Given the description of an element on the screen output the (x, y) to click on. 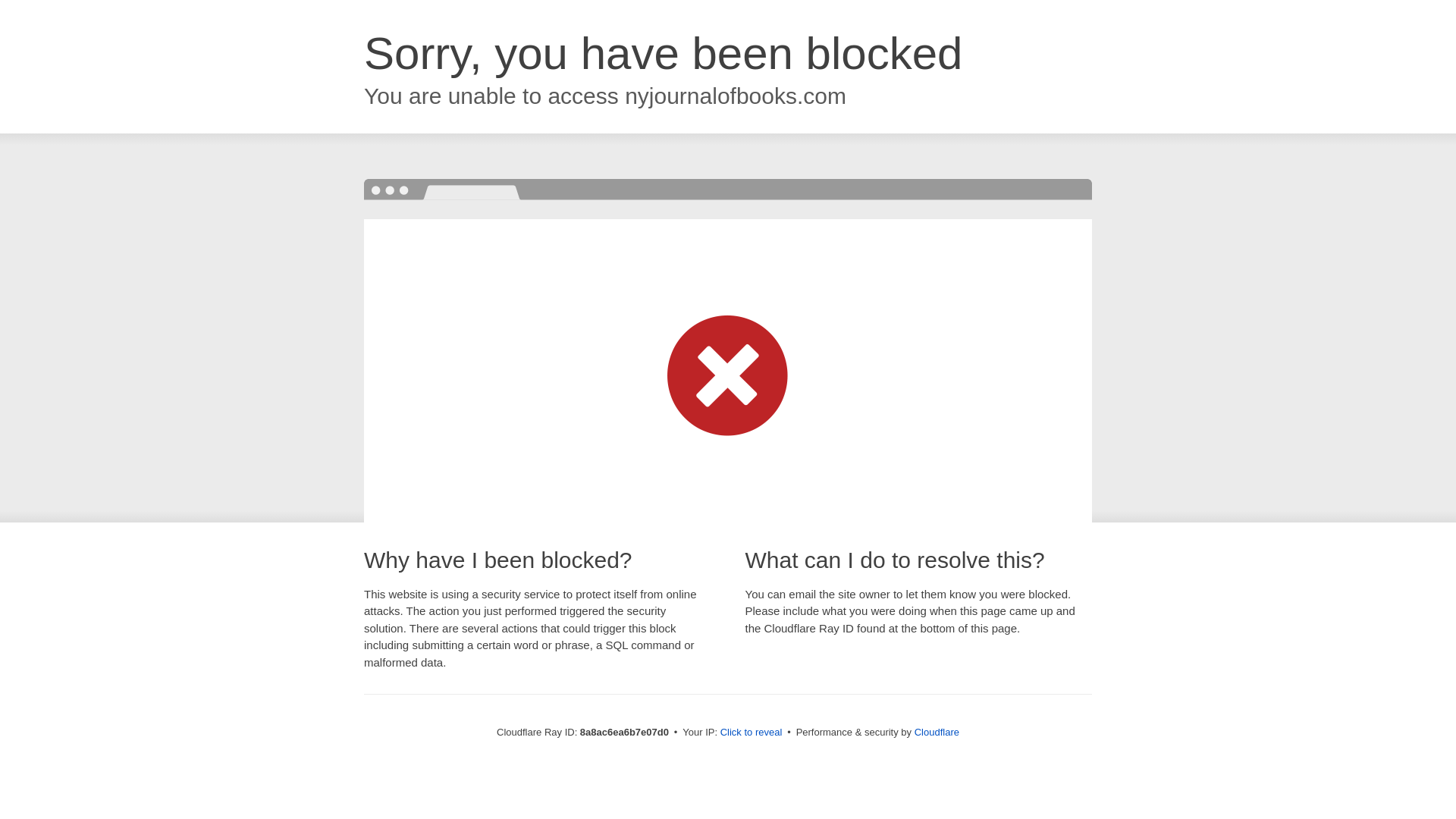
Click to reveal (751, 732)
Cloudflare (936, 731)
